Given the description of an element on the screen output the (x, y) to click on. 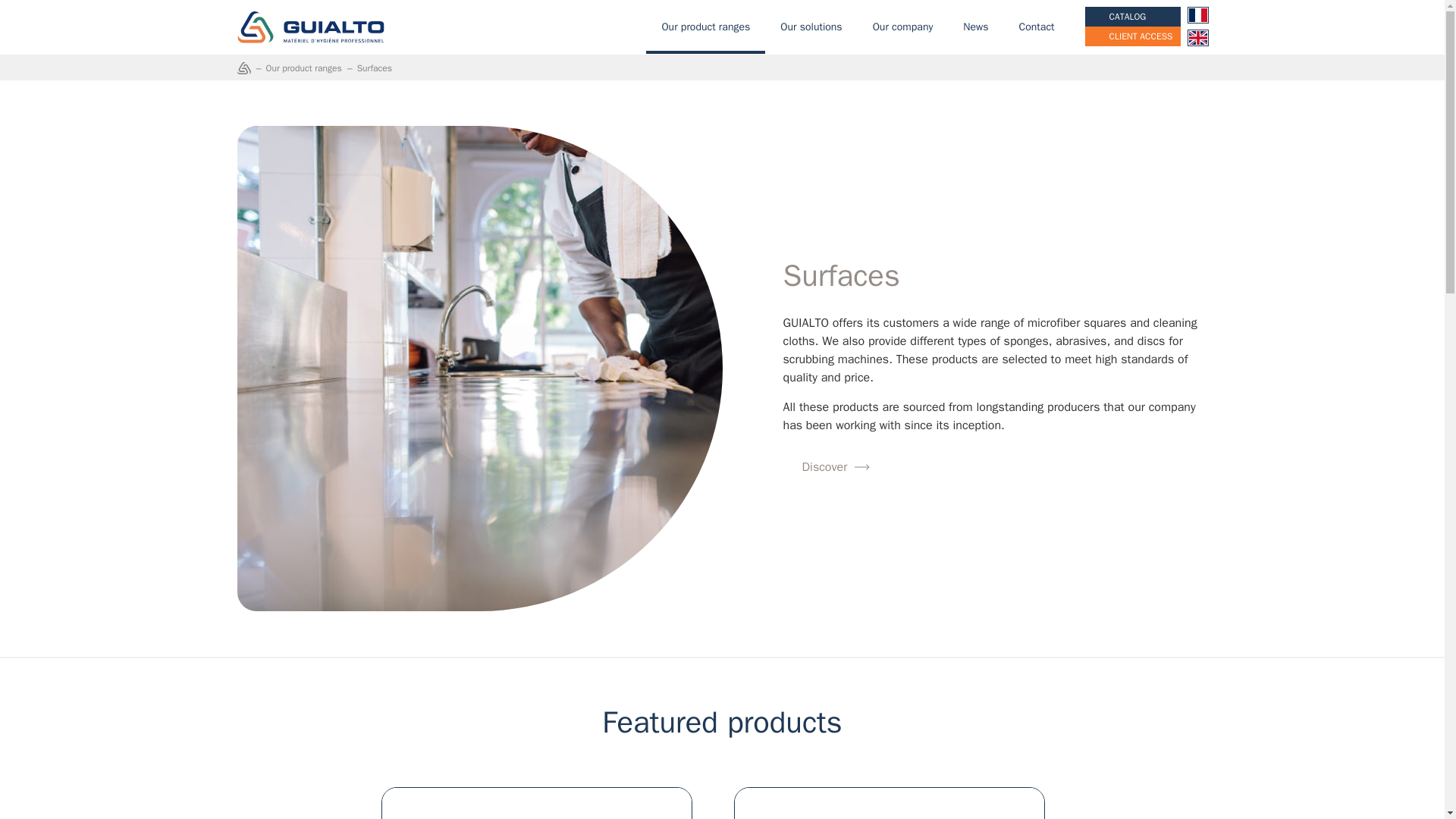
CLIENT ACCESS (1132, 35)
CATALOG (1132, 16)
English (1197, 37)
Our company (903, 27)
Our product ranges (705, 27)
News (975, 27)
Our solutions (811, 27)
Contact (1037, 27)
